Given the description of an element on the screen output the (x, y) to click on. 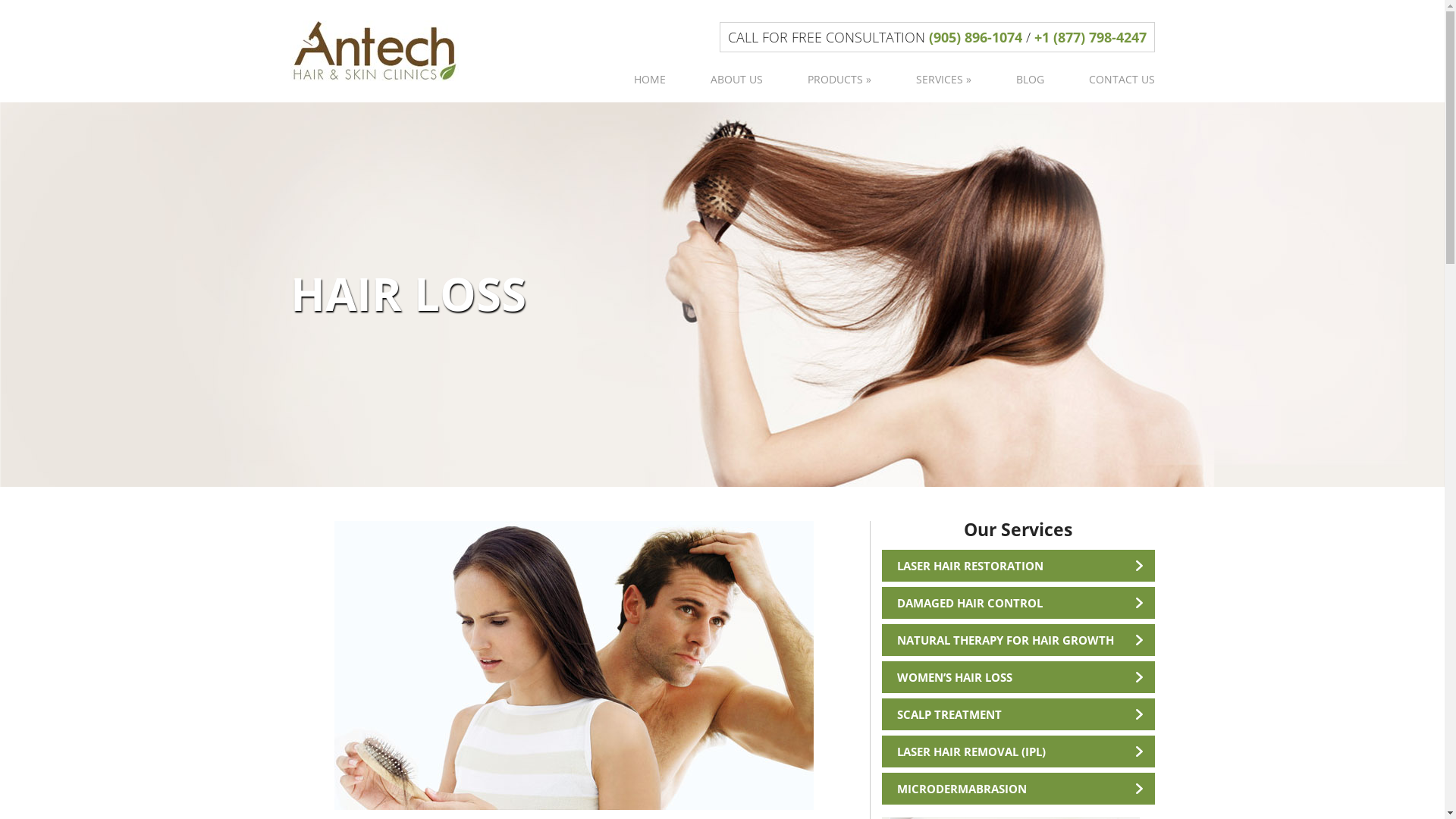
MICRODERMABRASION Element type: text (1017, 788)
NATURAL THERAPY FOR HAIR GROWTH Element type: text (1017, 639)
LASER HAIR RESTORATION Element type: text (1017, 565)
DAMAGED HAIR CONTROL Element type: text (1017, 602)
(905) 896-1074 Element type: text (974, 36)
HOME Element type: text (648, 78)
LASER HAIR REMOVAL (IPL) Element type: text (1017, 751)
ABOUT US Element type: text (736, 78)
CONTACT US Element type: text (1110, 78)
+1 (877) 798-4247 Element type: text (1090, 36)
SCALP TREATMENT Element type: text (1017, 714)
BLOG Element type: text (1028, 78)
